Given the description of an element on the screen output the (x, y) to click on. 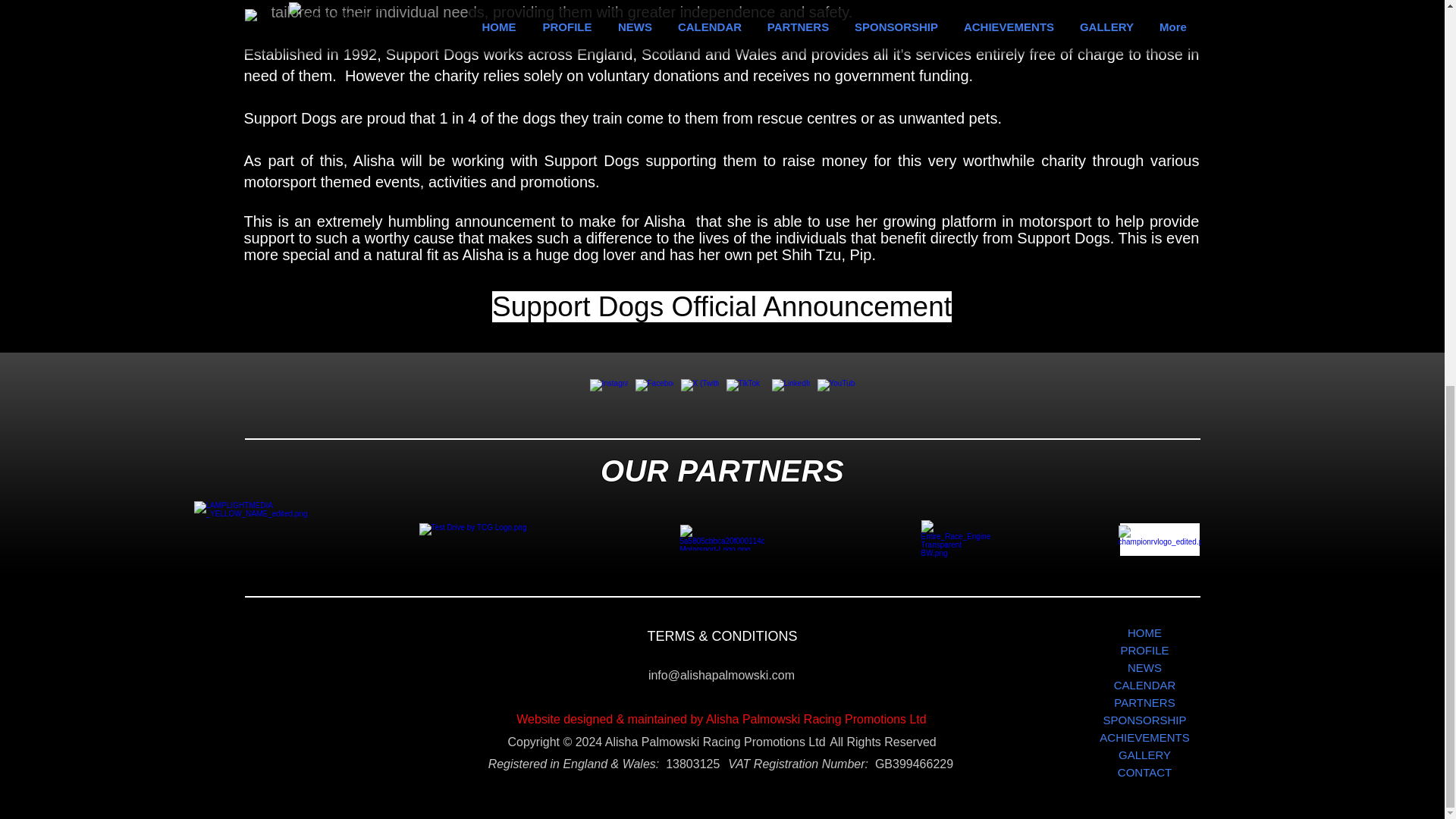
ACHIEVEMENTS (1144, 737)
PROFILE (1144, 650)
HOME (1144, 632)
PARTNERS (1144, 702)
NEWS (1144, 667)
GALLERY (1144, 754)
CONTACT (1144, 772)
Support Dogs Official Announcement (722, 306)
SPONSORSHIP (1144, 719)
CALENDAR (1144, 684)
